Given the description of an element on the screen output the (x, y) to click on. 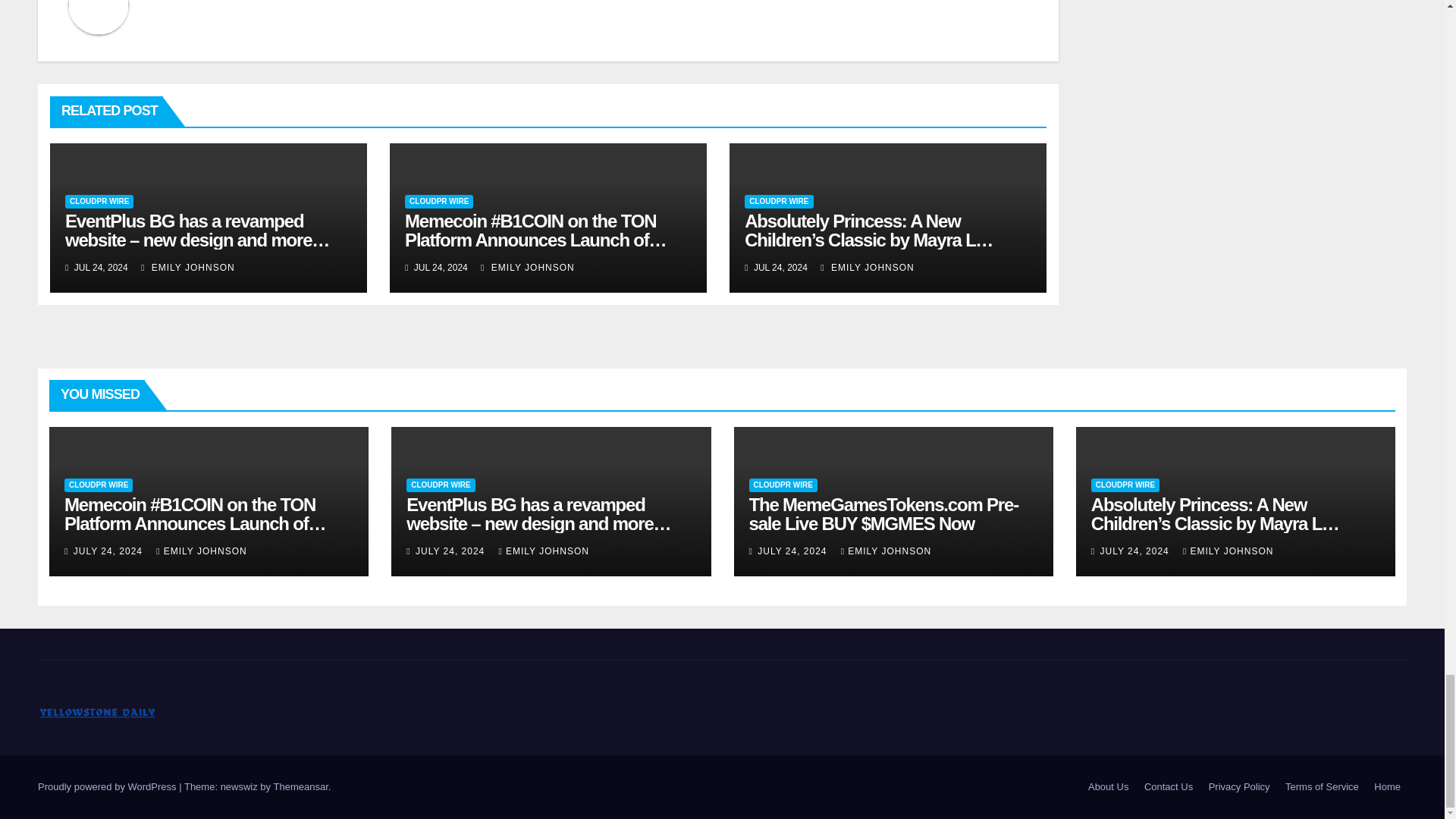
EMILY JOHNSON (187, 267)
CLOUDPR WIRE (438, 201)
EMILY JOHNSON (527, 267)
CLOUDPR WIRE (99, 201)
